Given the description of an element on the screen output the (x, y) to click on. 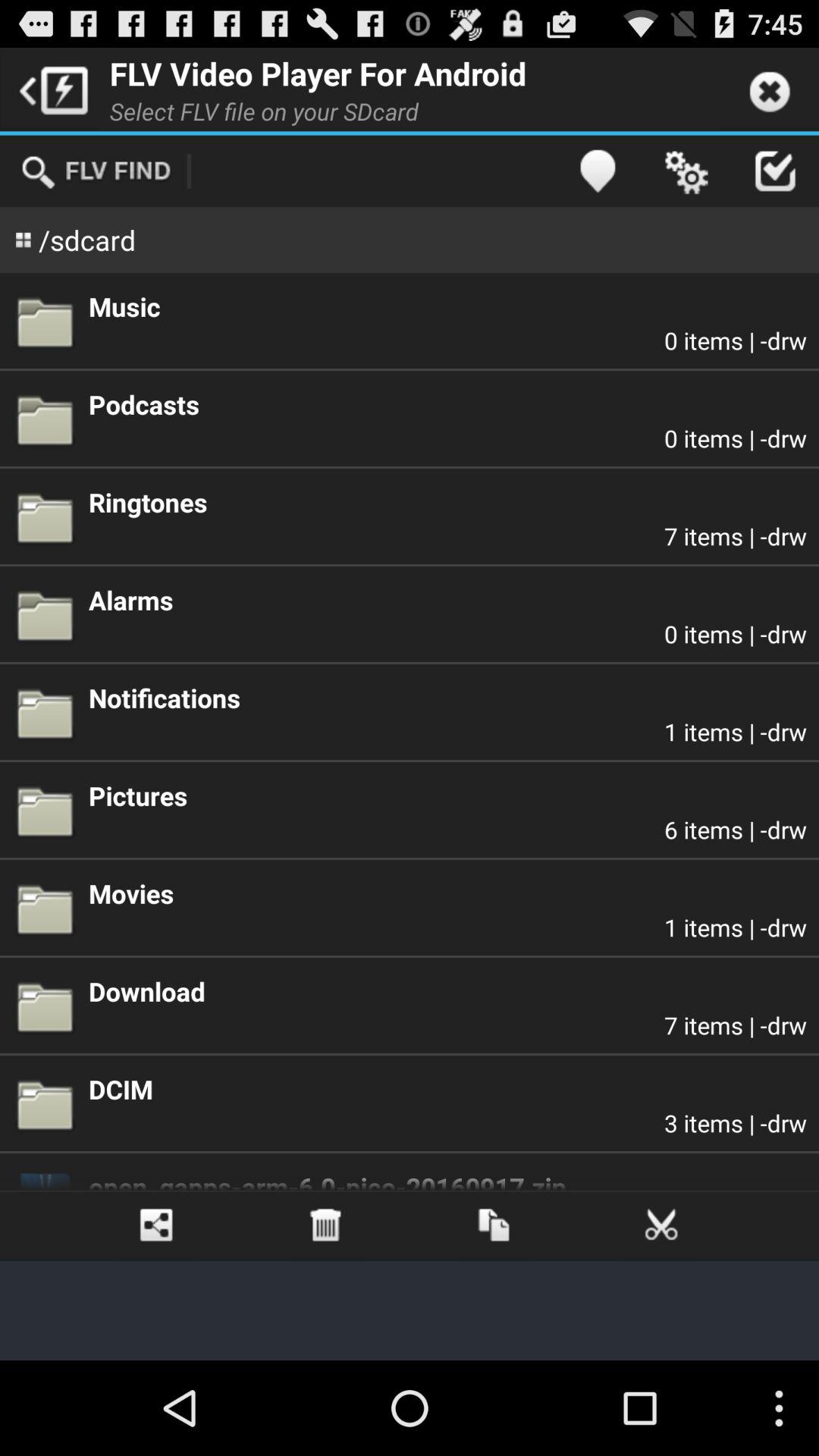
launch icon next to flv video player app (49, 89)
